Given the description of an element on the screen output the (x, y) to click on. 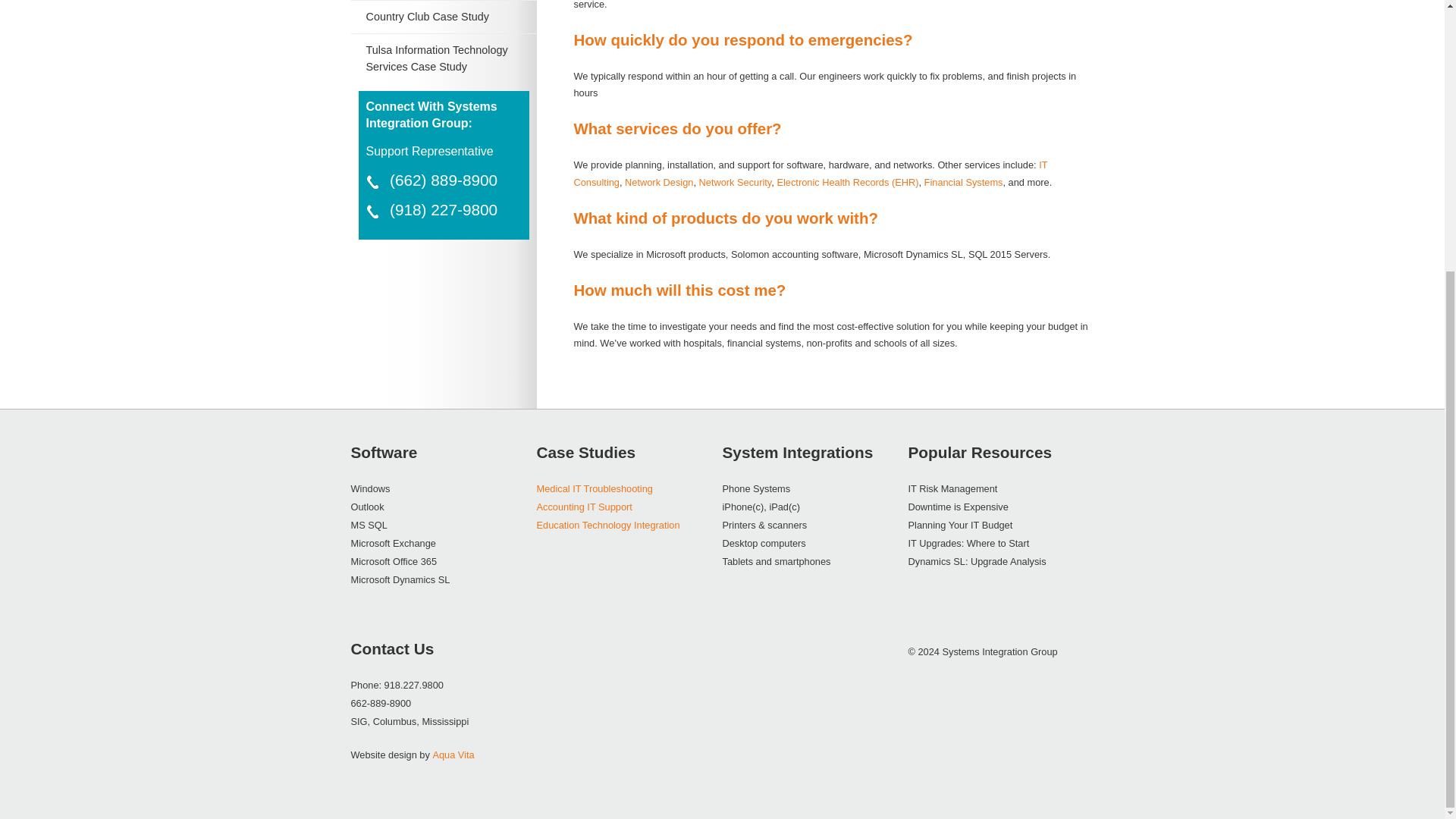
IT Consulting (809, 172)
Tulsa Information Technology Services Case Study (435, 58)
Accounting IT Support (584, 506)
Medical IT Troubleshooting (594, 488)
Financial Systems (963, 182)
Network Design (658, 182)
Education Technology Integration (608, 524)
Network Security (734, 182)
Country Club Case Study (426, 16)
